Given the description of an element on the screen output the (x, y) to click on. 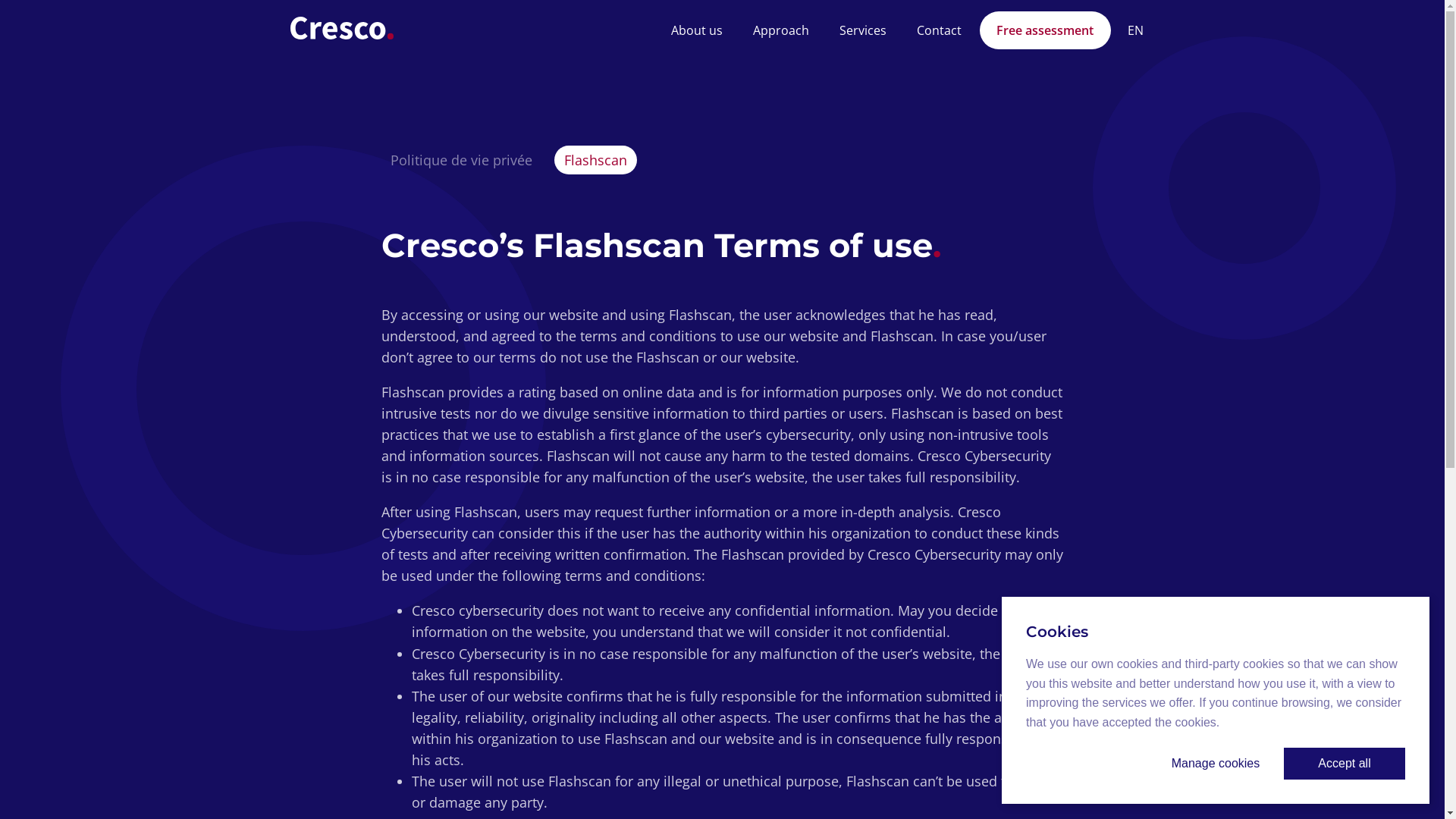
About us Element type: text (696, 30)
Approach Element type: text (780, 30)
Free assessment Element type: text (1044, 30)
Accept all Element type: text (1344, 763)
Contact Element type: text (938, 30)
Flashscan Element type: text (595, 159)
Services Element type: text (862, 30)
Manage cookies Element type: text (1215, 763)
